Given the description of an element on the screen output the (x, y) to click on. 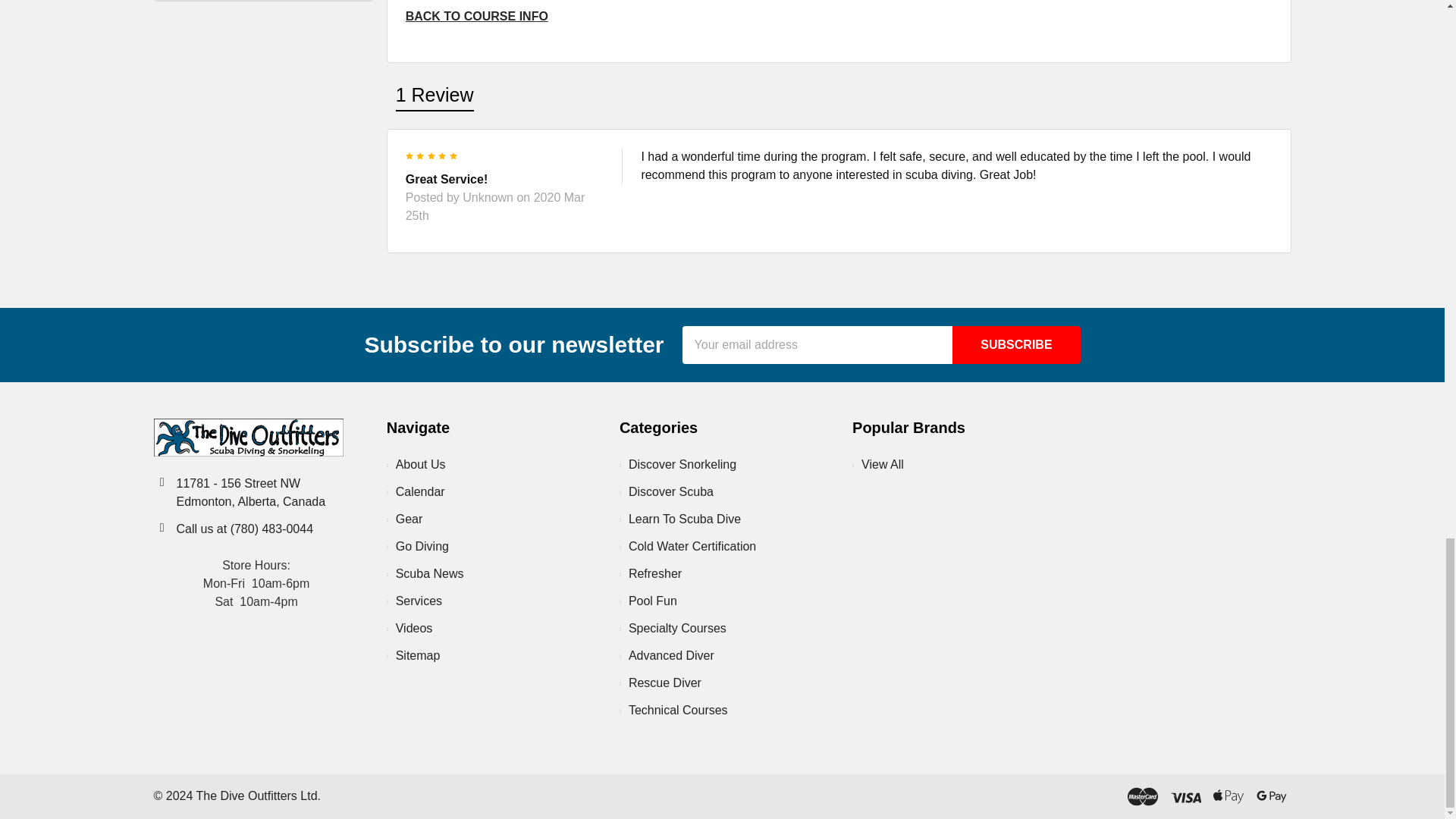
Subscribe (1016, 344)
The Dive Outfitters Ltd (247, 437)
